Given the description of an element on the screen output the (x, y) to click on. 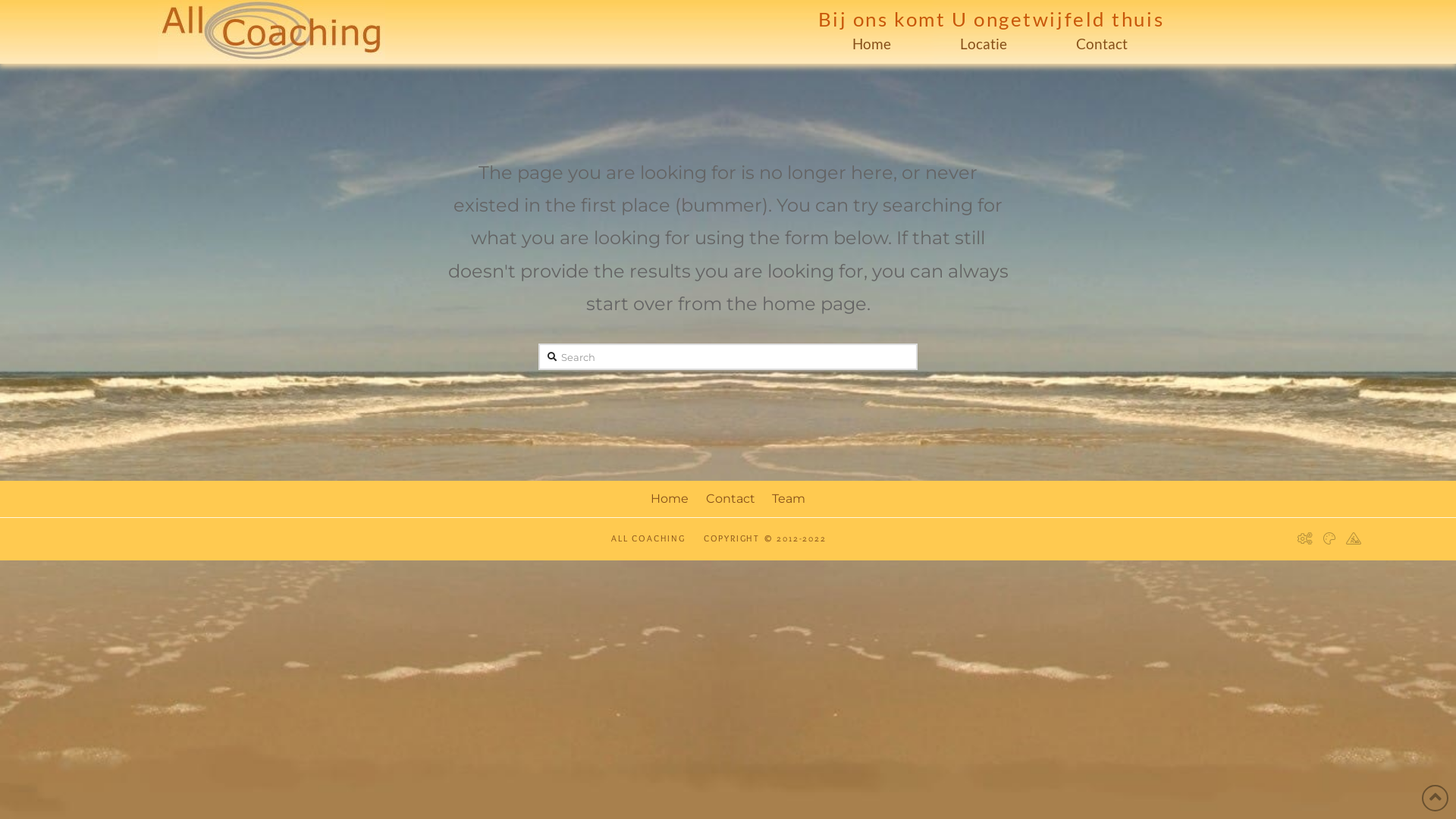
Home Element type: text (669, 498)
Home Element type: text (871, 43)
Locatie Element type: text (983, 43)
Contact Element type: text (1101, 43)
Back to Top Element type: hover (1434, 797)
Contact Element type: text (729, 498)
Team Element type: text (788, 498)
